Given the description of an element on the screen output the (x, y) to click on. 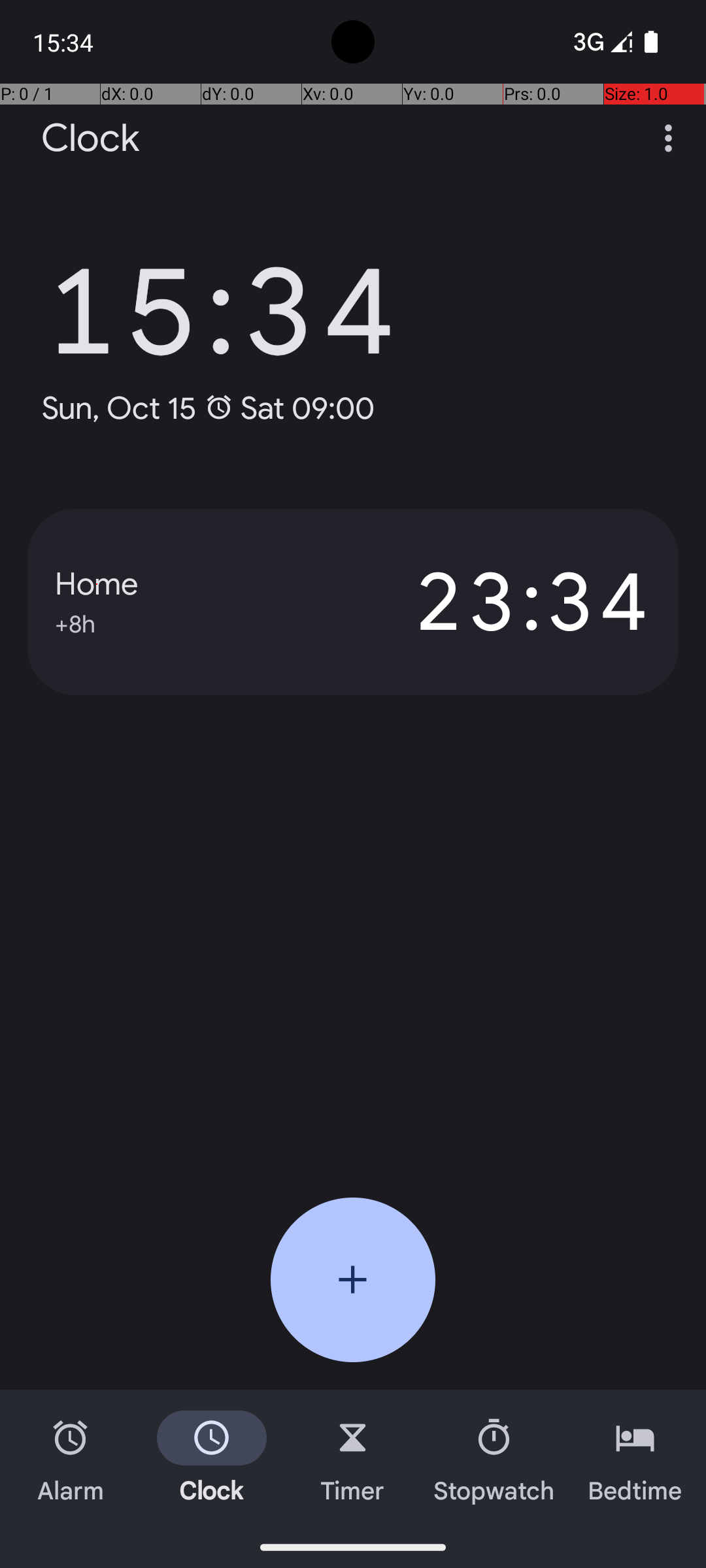
Sun, Oct 15 A Sat 09:00 Element type: android.widget.TextView (207, 407)
+8h Element type: android.widget.TextView (74, 621)
23:34 Element type: android.widget.TextView (502, 601)
